Given the description of an element on the screen output the (x, y) to click on. 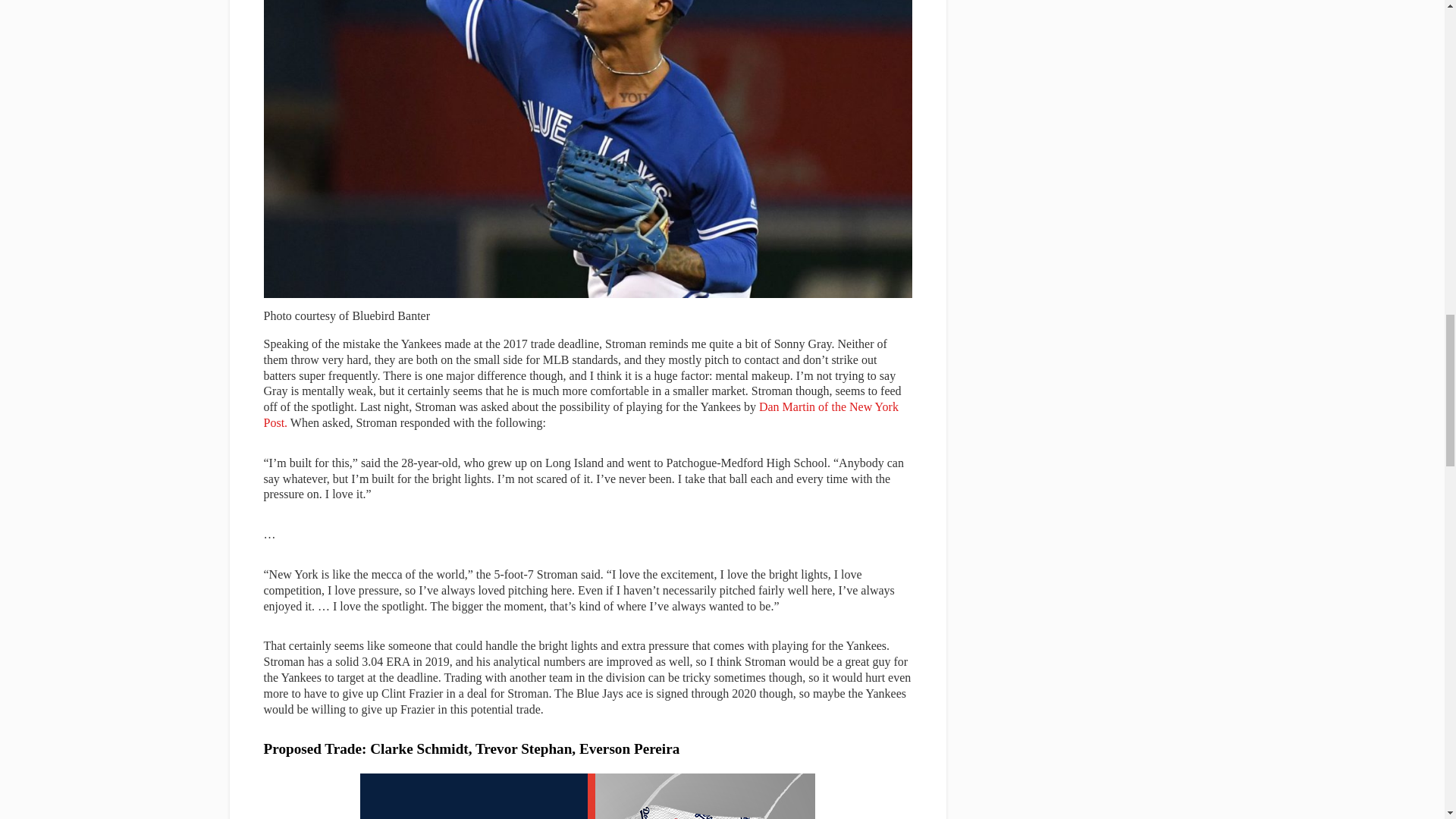
Dan Martin of the New York Post. (580, 414)
